Given the description of an element on the screen output the (x, y) to click on. 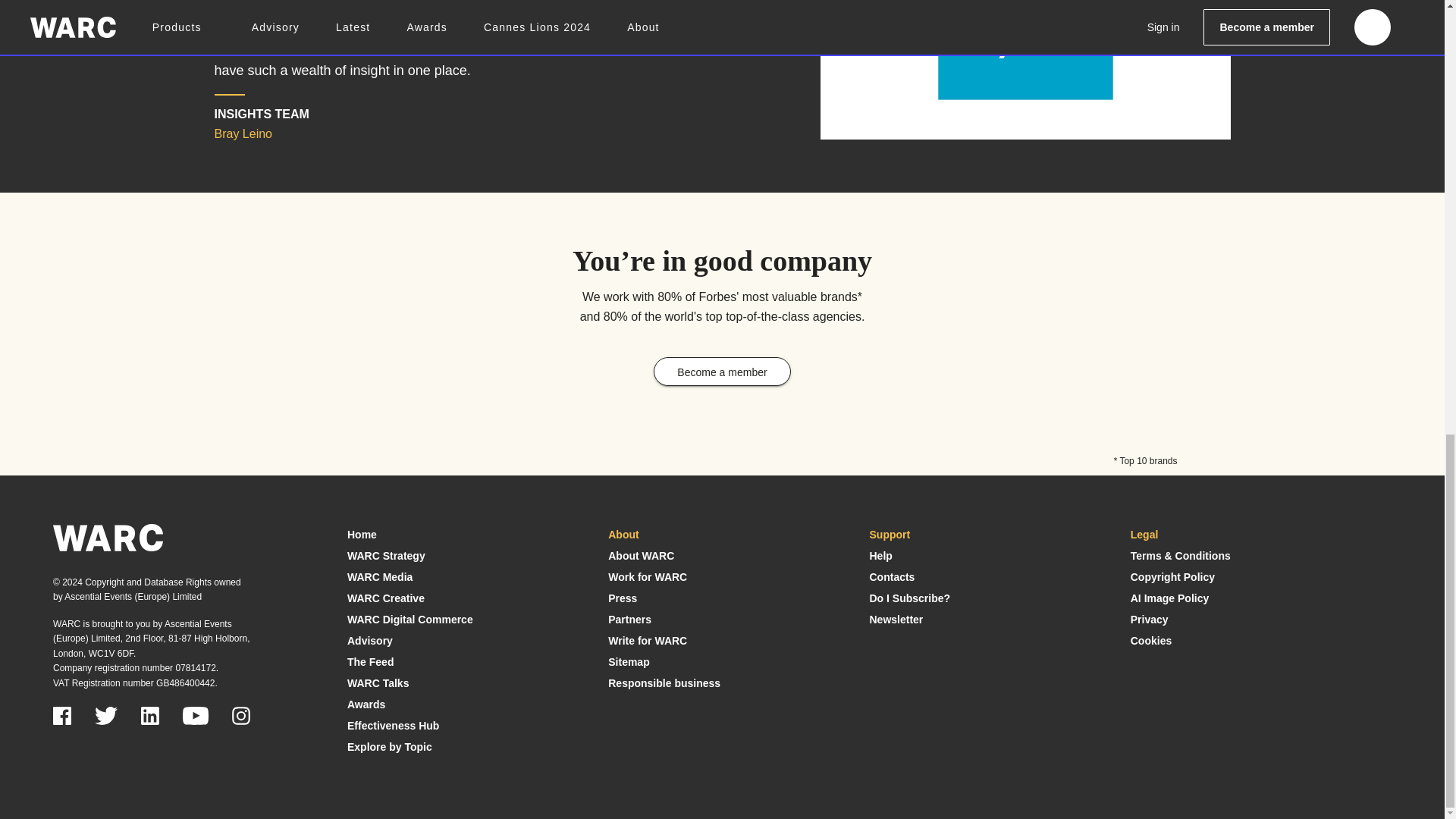
Bray Leino (1025, 56)
